Given the description of an element on the screen output the (x, y) to click on. 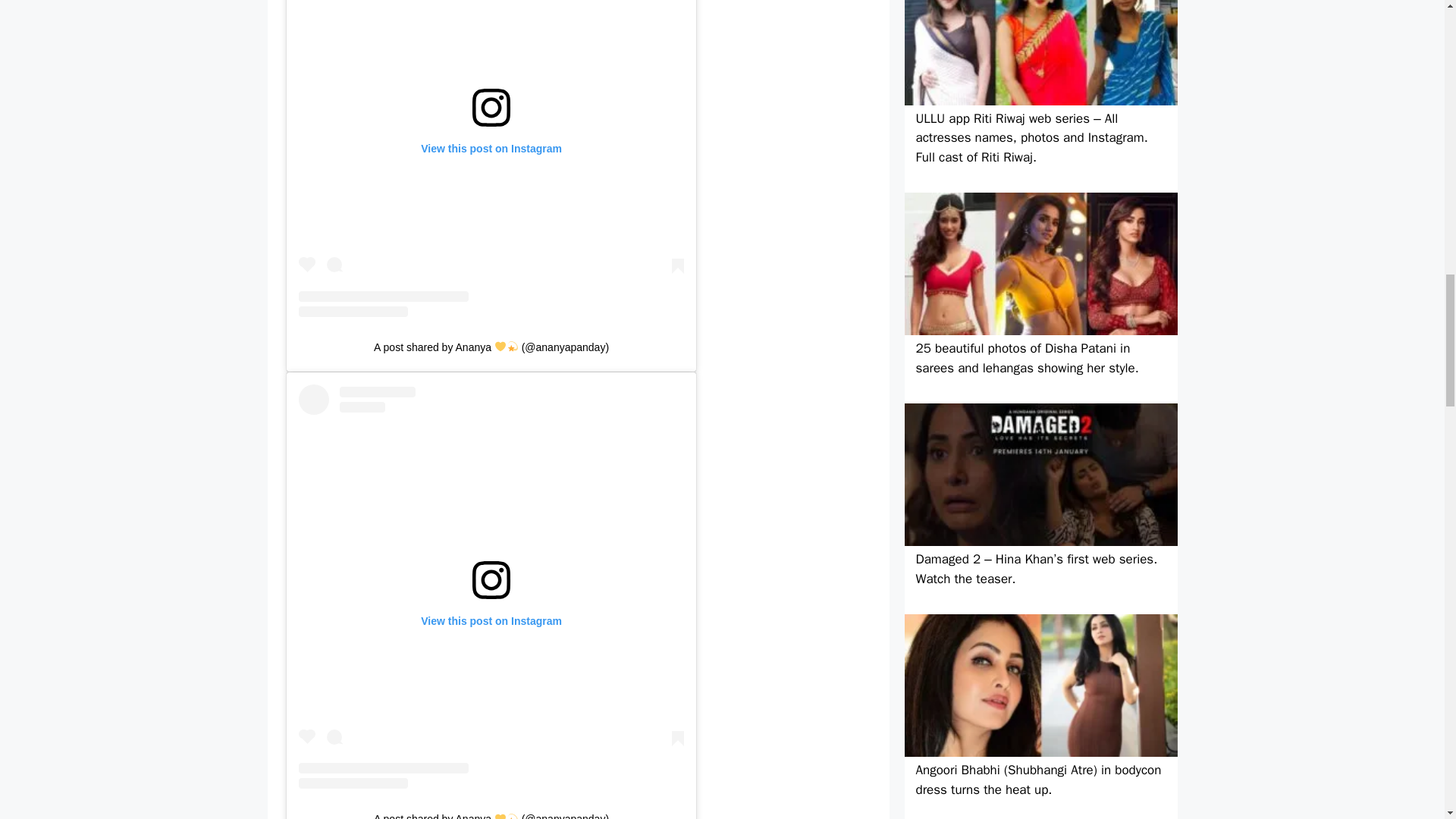
View this post on Instagram (491, 158)
